Given the description of an element on the screen output the (x, y) to click on. 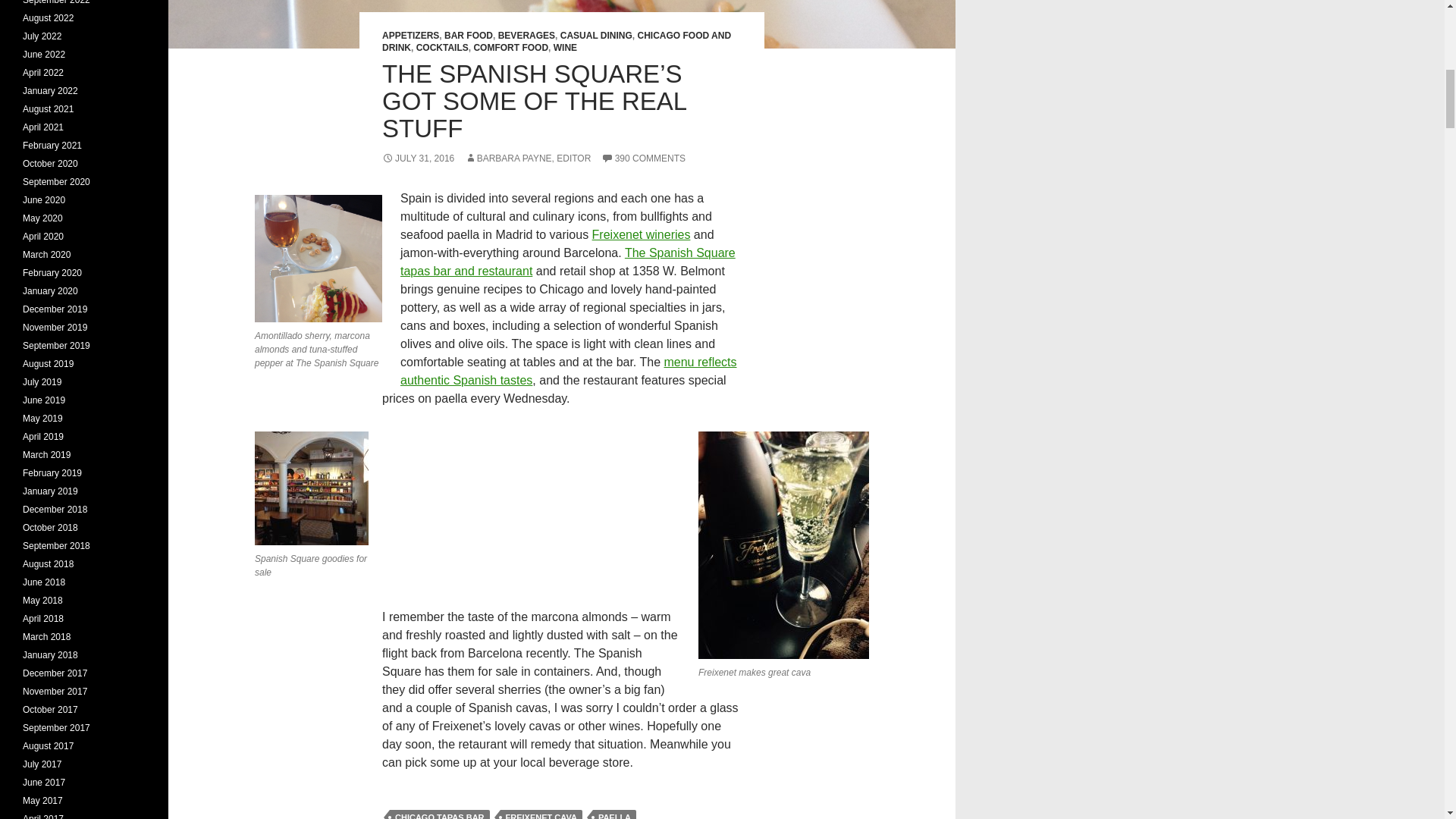
CHICAGO FOOD AND DRINK (555, 41)
390 COMMENTS (643, 158)
BARBARA PAYNE, EDITOR (527, 158)
CASUAL DINING (595, 35)
WINE (564, 47)
APPETIZERS (410, 35)
Freixenet wineries (641, 234)
JULY 31, 2016 (417, 158)
CHICAGO TAPAS BAR (439, 814)
The Spanish Square tapas bar and restaurant (567, 261)
